Given the description of an element on the screen output the (x, y) to click on. 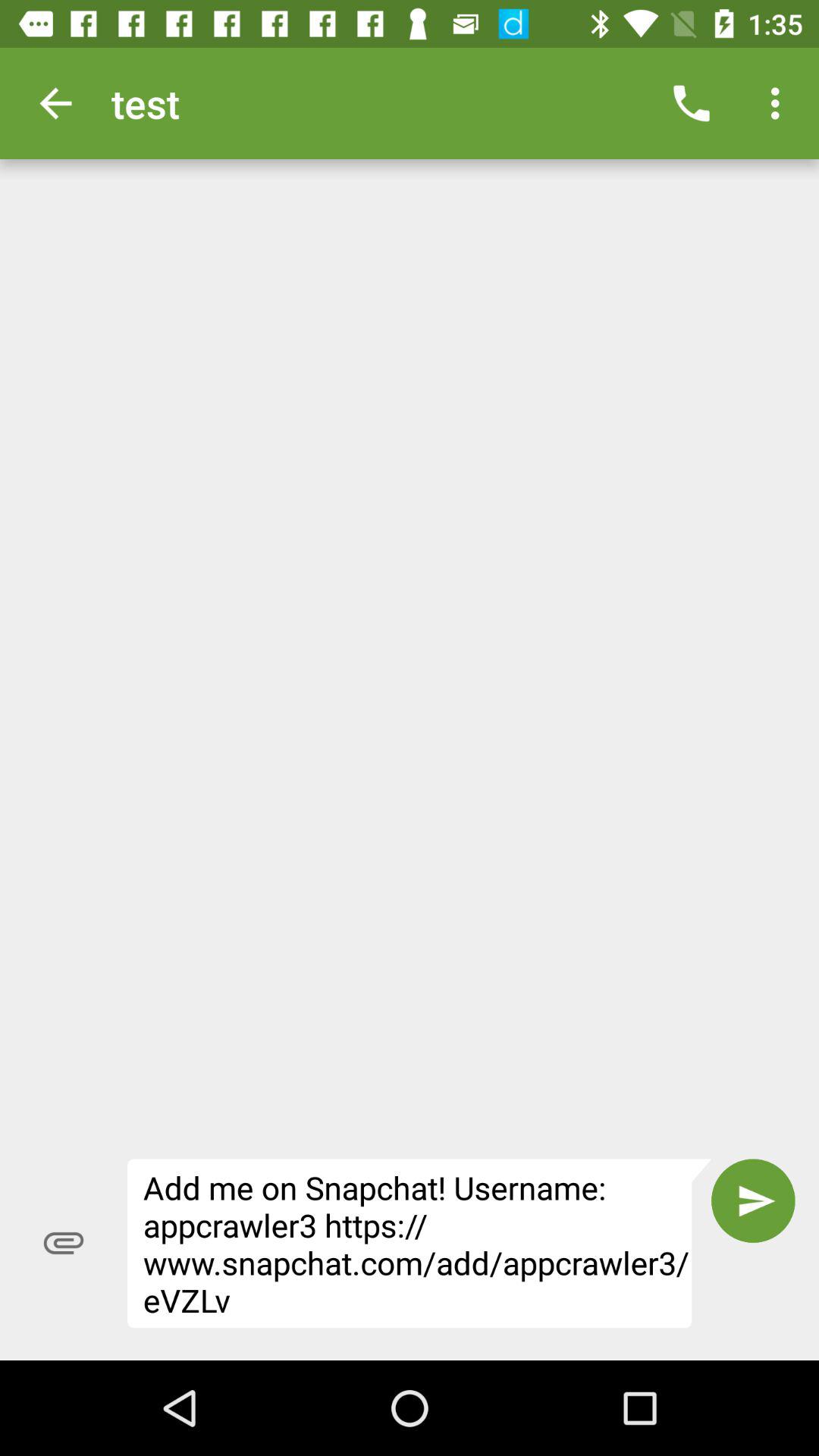
select item to the right of test item (691, 103)
